Given the description of an element on the screen output the (x, y) to click on. 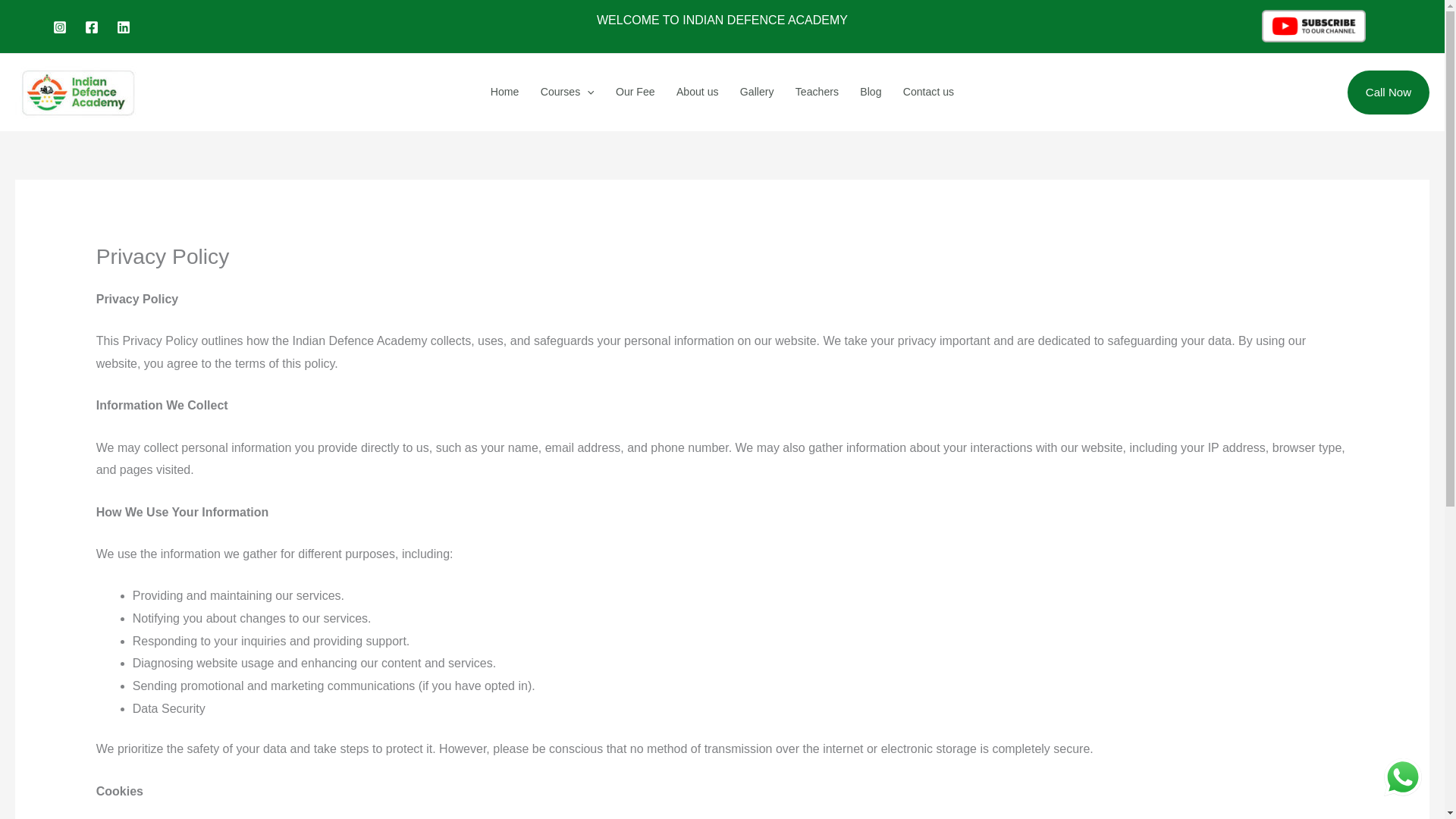
Gallery (756, 92)
Teachers (816, 92)
WhatsApp us (1403, 777)
Contact us (928, 92)
About us (697, 92)
Courses (567, 92)
Our Fee (635, 92)
Call Now (1388, 92)
